Given the description of an element on the screen output the (x, y) to click on. 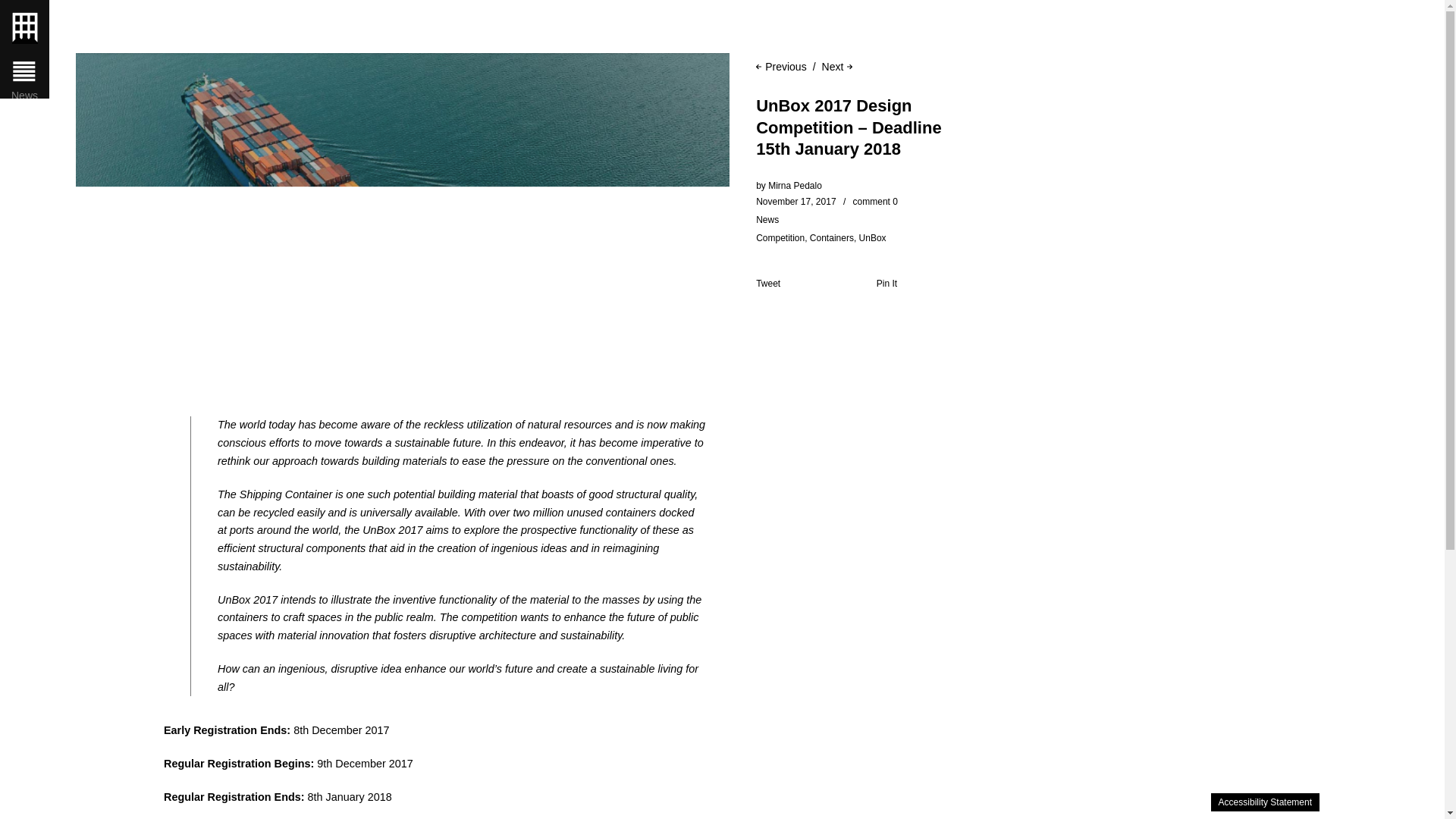
BA Interior Architecture (94, 653)
DS2.2 Year 2 (94, 271)
DS2.5 Year 2 (94, 352)
All posts by Mirna Pedalo (795, 185)
DS3.4 Year 3 (94, 516)
DS2.6 Year 2 (94, 379)
DS2.3 Year 2 (94, 298)
DS3.1 Year 3 (94, 434)
BSc AED TES (94, 801)
BSc Architecture and Environmental Design (94, 768)
